Given the description of an element on the screen output the (x, y) to click on. 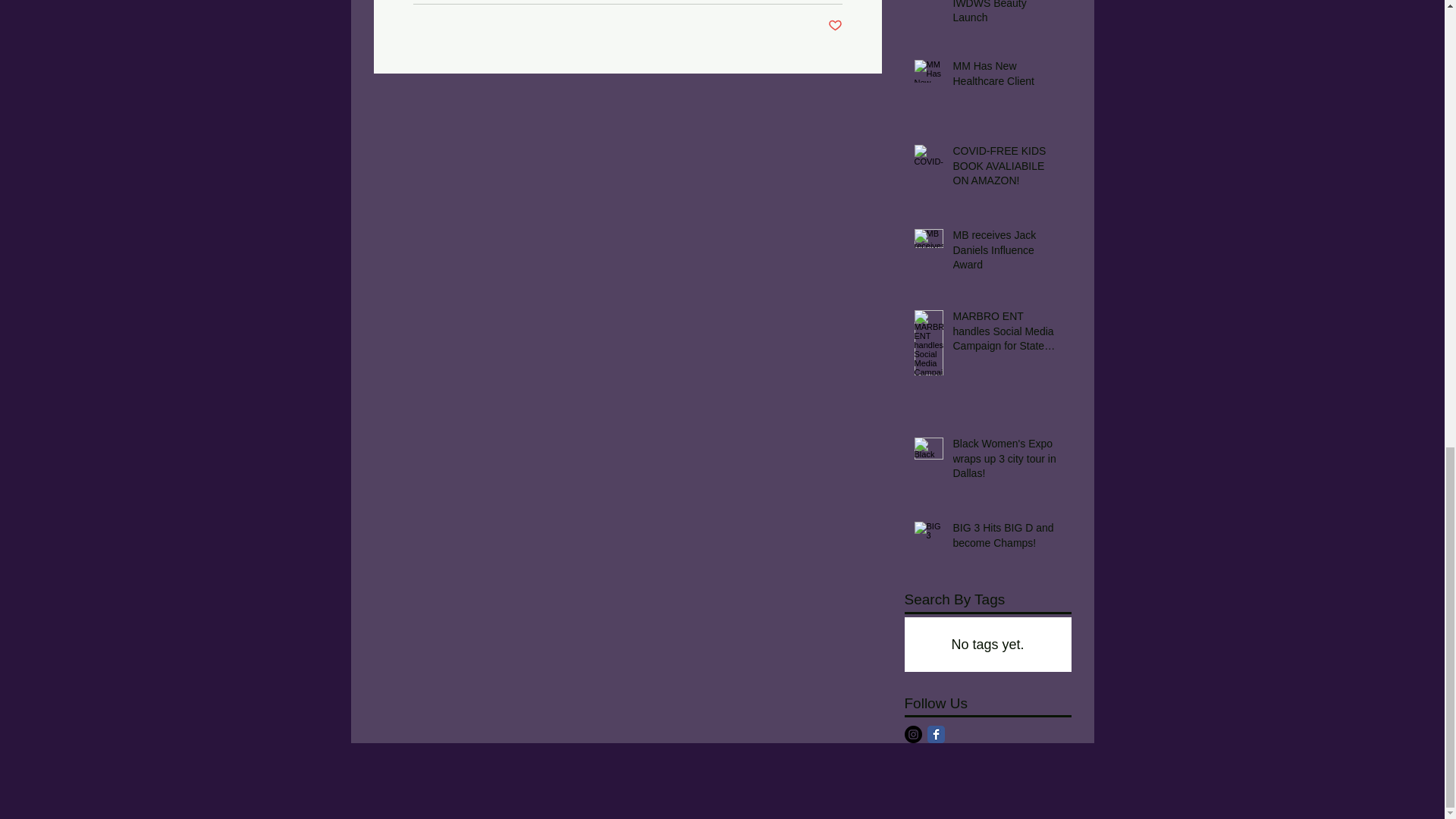
MB receives Jack Daniels Influence Award (1006, 253)
BIG 3 Hits BIG D and become Champs! (1006, 538)
Black Women's Expo wraps up 3 city tour in Dallas! (1006, 461)
Post not marked as liked (835, 26)
MM Has New Healthcare Client (1006, 76)
COVID-FREE KIDS BOOK AVALIABILE ON AMAZON! (1006, 169)
